Given the description of an element on the screen output the (x, y) to click on. 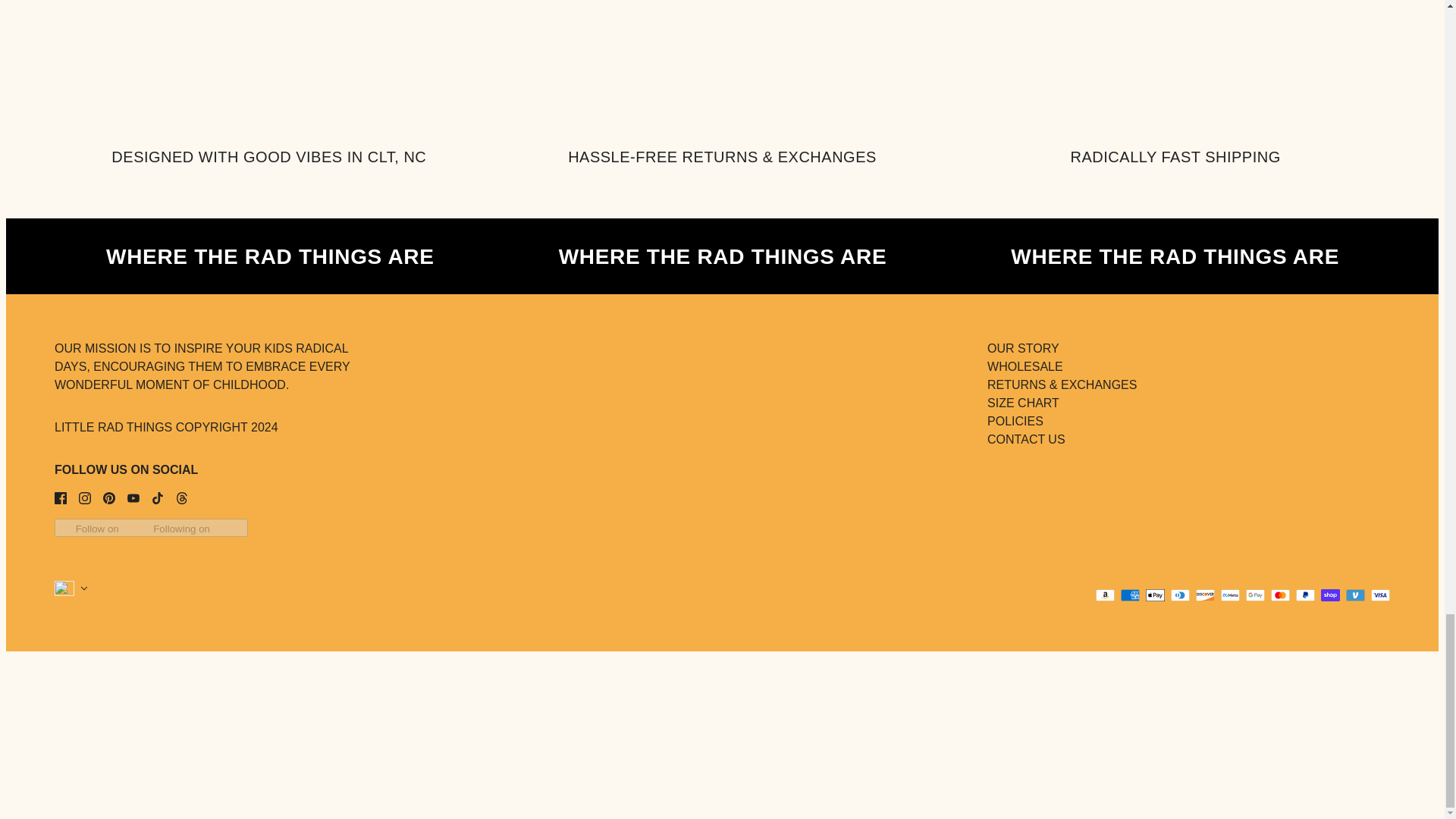
WHERE THE RAD THINGS ARE (269, 256)
WHERE THE RAD THINGS ARE (219, 256)
WHERE THE RAD THINGS ARE (722, 256)
WHERE THE RAD THINGS ARE (269, 256)
CONTACT US (1026, 439)
WHERE THE RAD THINGS ARE (1174, 256)
WHERE THE RAD THINGS ARE (1125, 256)
POLICIES (1015, 420)
